Given the description of an element on the screen output the (x, y) to click on. 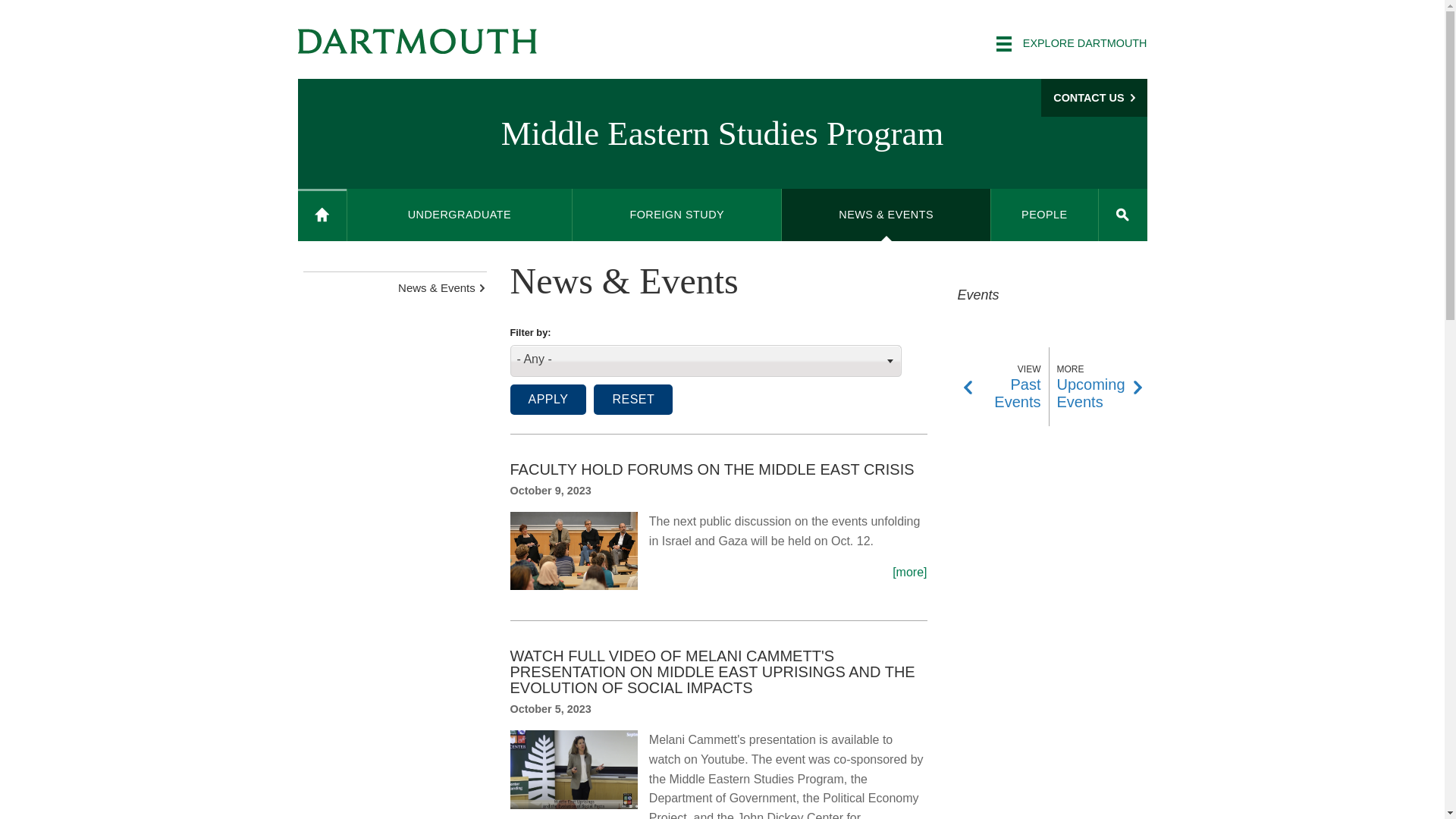
Dartmouth College (417, 41)
Top Stories (578, 550)
EXPLORE DARTMOUTH (1071, 43)
Home (321, 214)
